Given the description of an element on the screen output the (x, y) to click on. 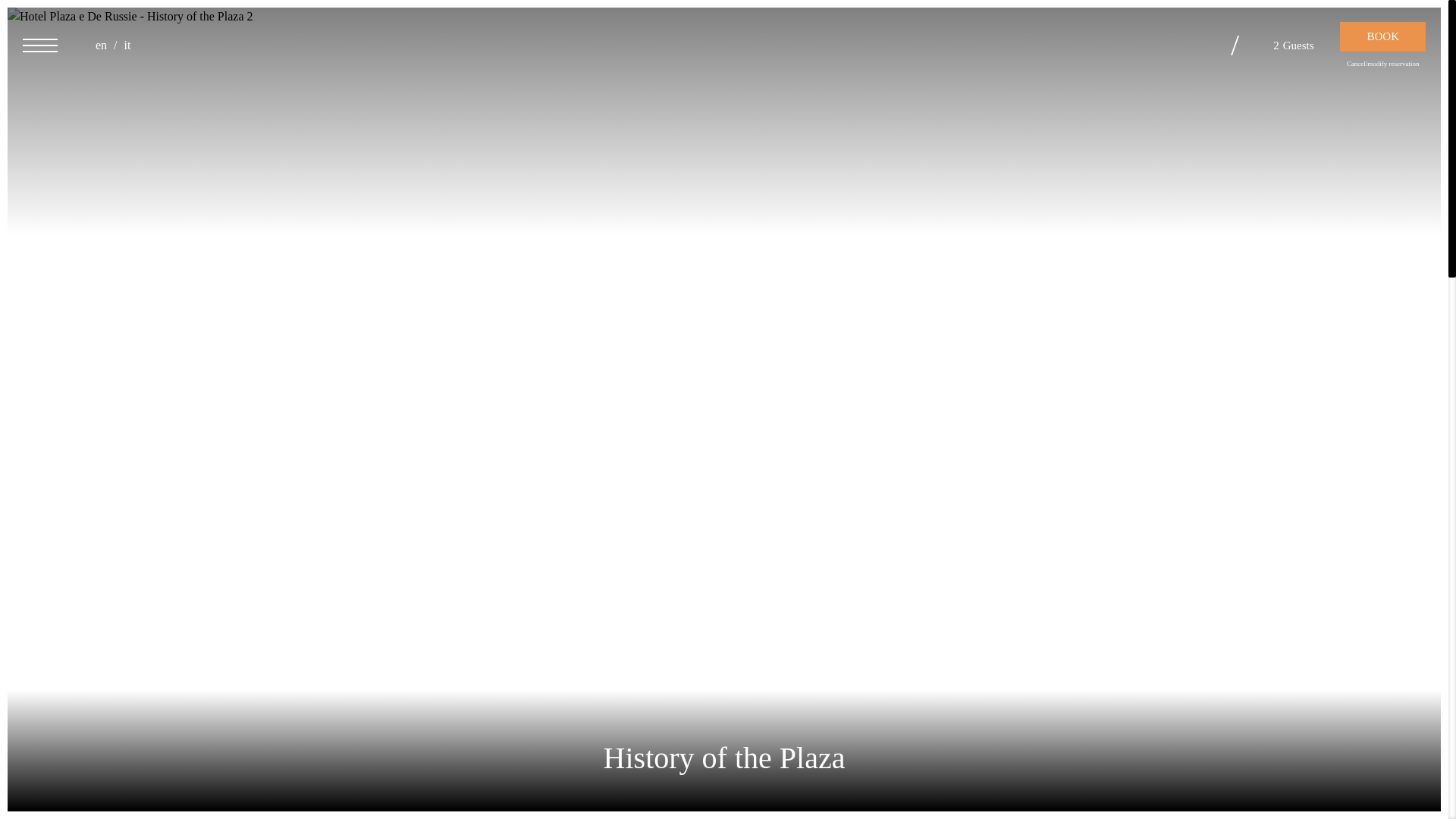
en (108, 44)
History of the Plaza (188, 42)
Book (1382, 36)
en (108, 44)
Book (1382, 36)
History of the Plaza (723, 42)
